Given the description of an element on the screen output the (x, y) to click on. 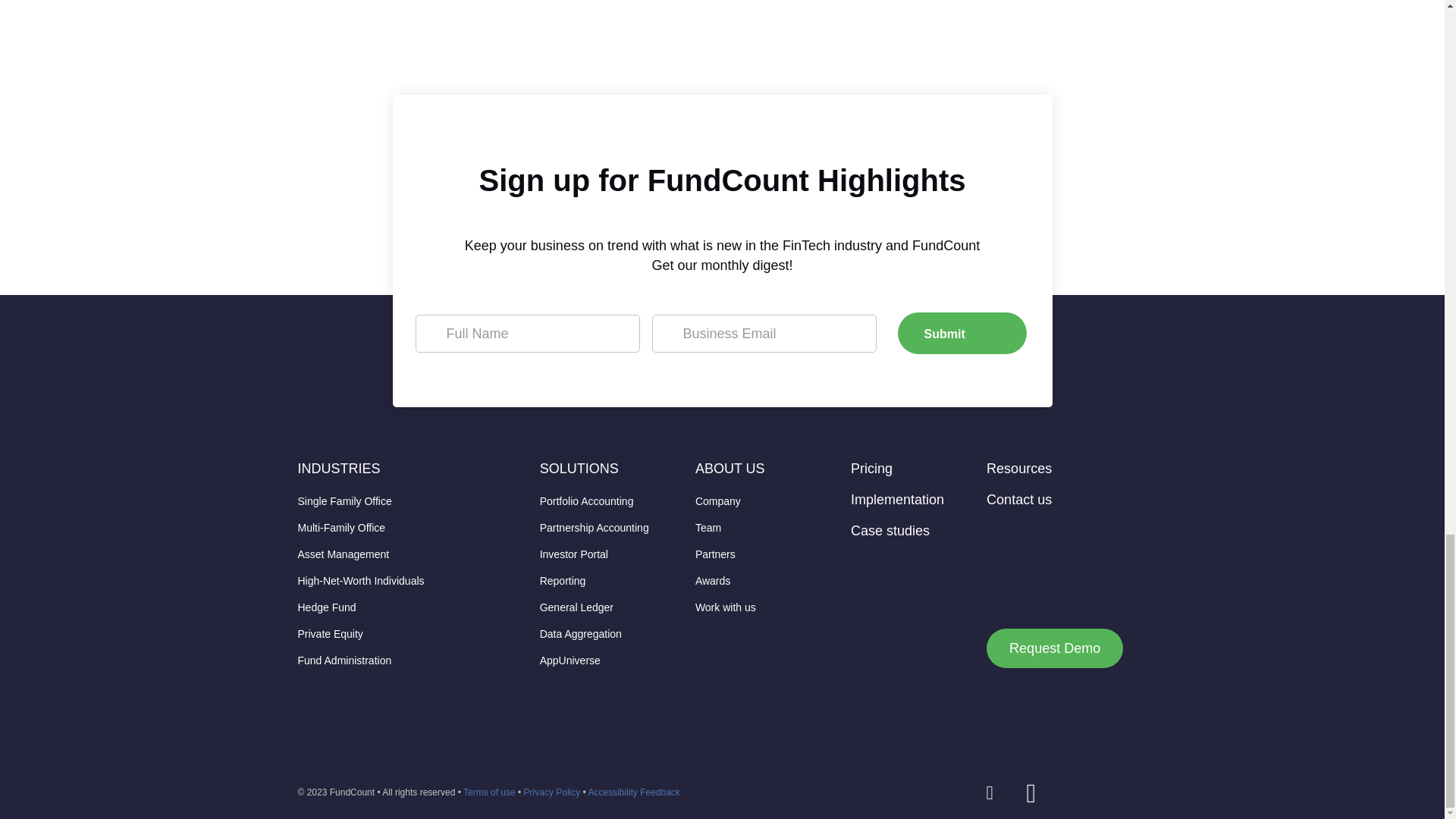
Submit (962, 332)
